Given the description of an element on the screen output the (x, y) to click on. 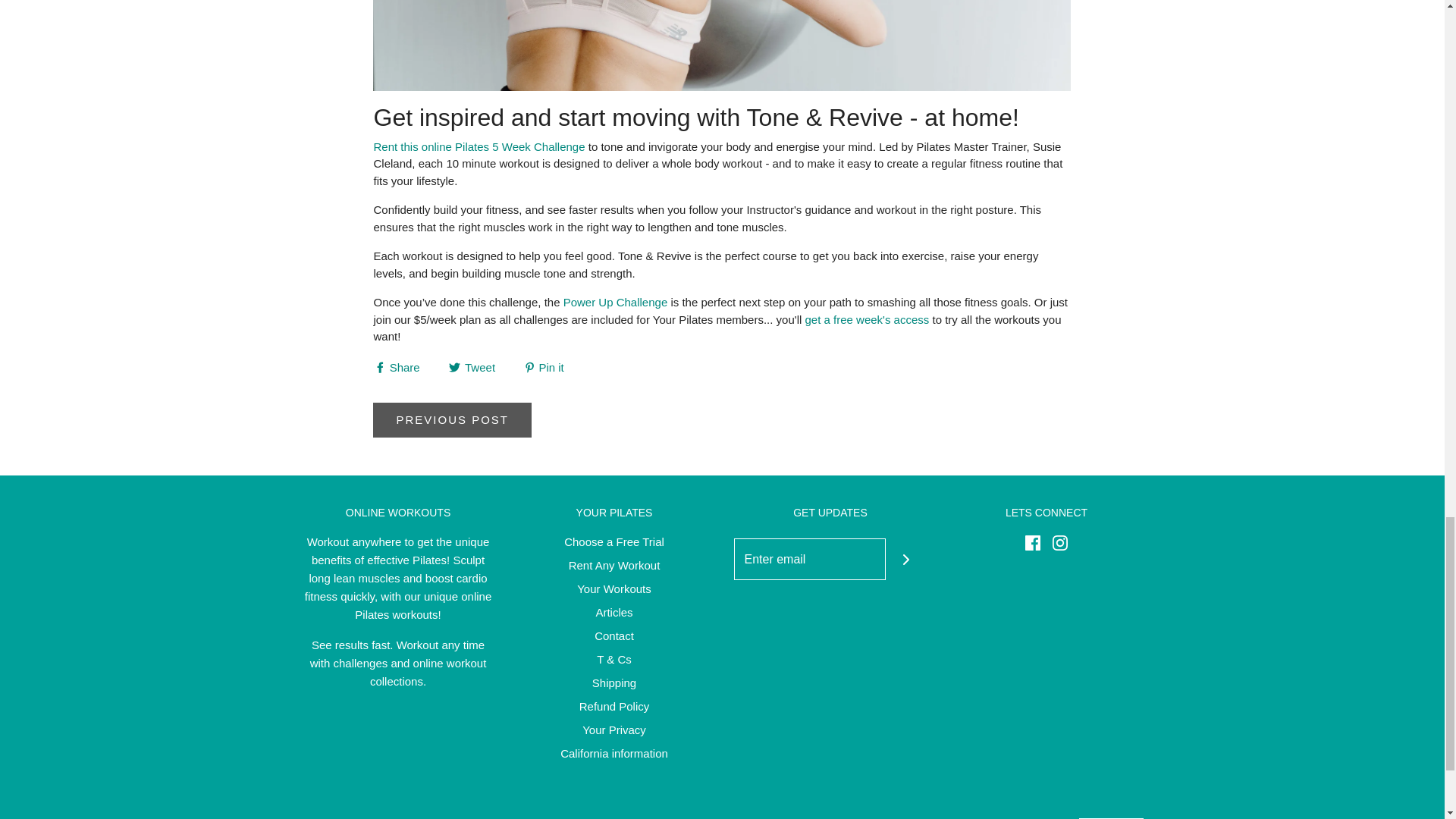
Rent this online Pilates 5 Week Challenge (478, 146)
PREVIOUS POST (451, 420)
Articles (613, 615)
online pilates challenge (615, 301)
Your Workouts (613, 591)
Share (397, 366)
Facebook icon (1033, 542)
Rent Any Workout (615, 567)
Tweet (472, 366)
Power Up Challenge (615, 301)
